Given the description of an element on the screen output the (x, y) to click on. 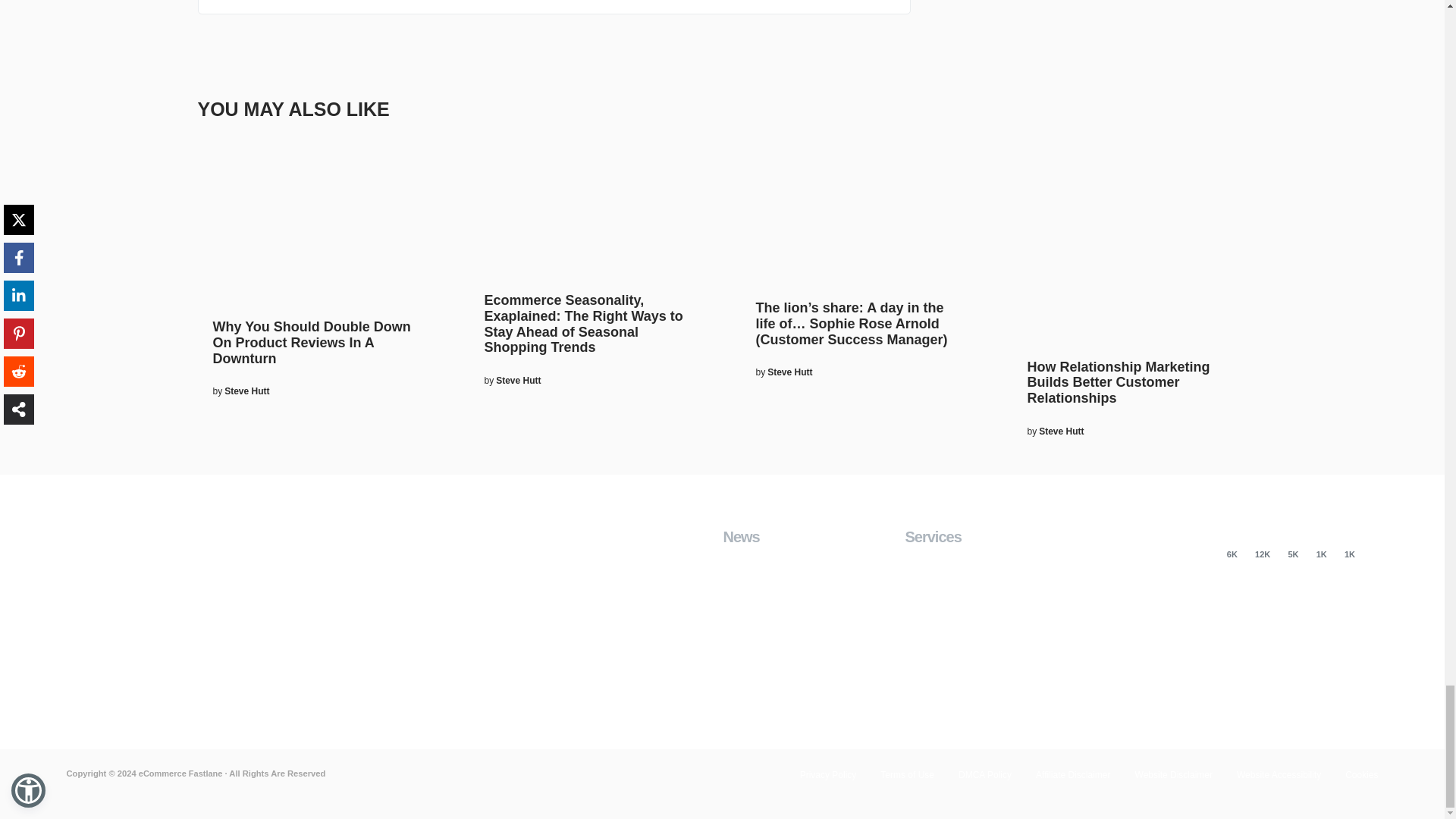
View all posts by Steve Hutt (1061, 431)
View all posts by Steve Hutt (246, 391)
View all posts by Steve Hutt (789, 372)
View all posts by Steve Hutt (518, 380)
